Given the description of an element on the screen output the (x, y) to click on. 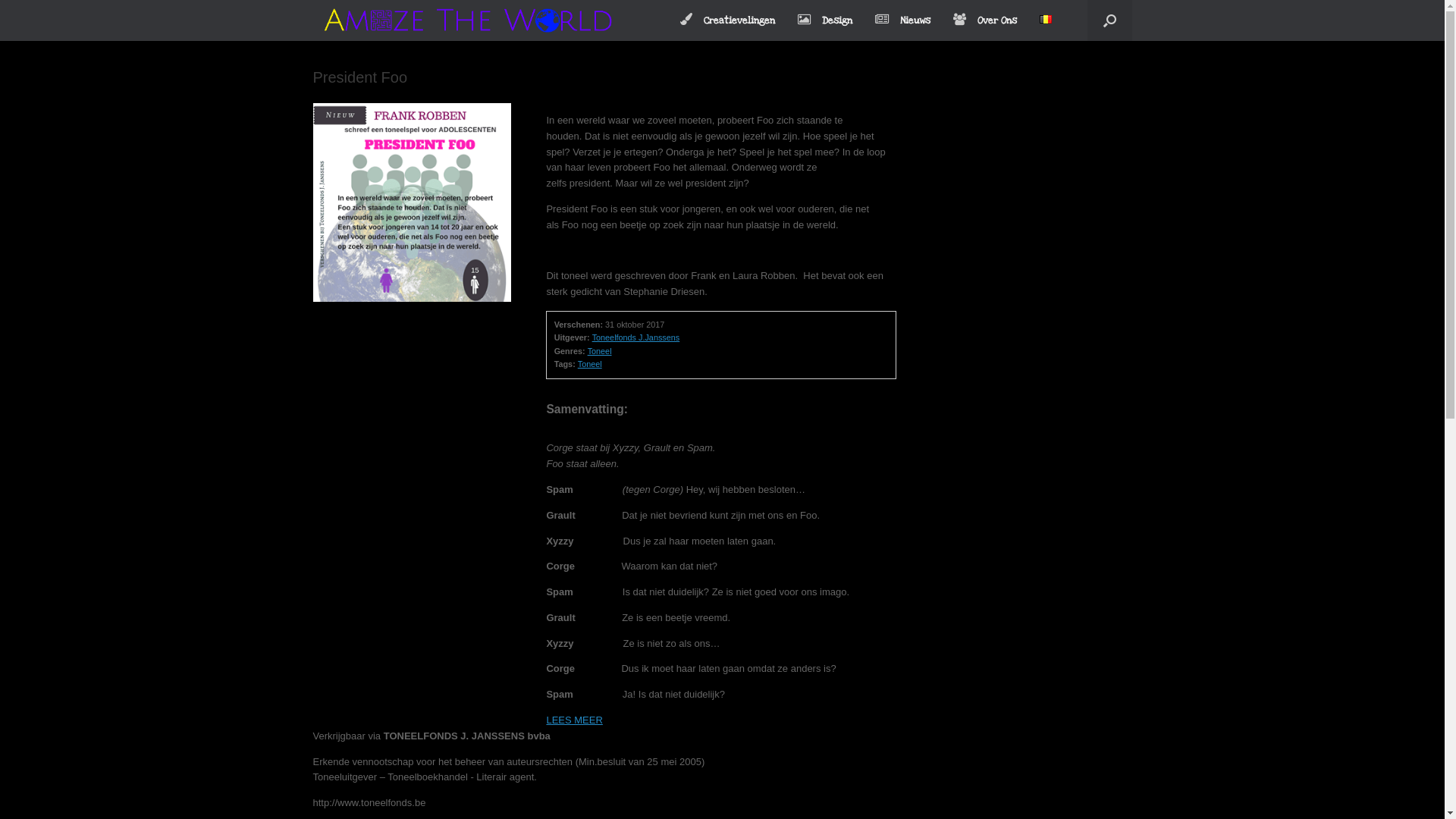
Over Ons Element type: text (984, 20)
Toneelfonds J.Janssens Element type: text (636, 337)
Toneel Element type: text (589, 363)
Toneel Element type: text (599, 350)
Amaze The World Element type: hover (484, 20)
Creatievelingen Element type: text (727, 20)
Nieuws Element type: text (902, 20)
LEES MEER Element type: text (574, 719)
Design Element type: text (824, 20)
